Given the description of an element on the screen output the (x, y) to click on. 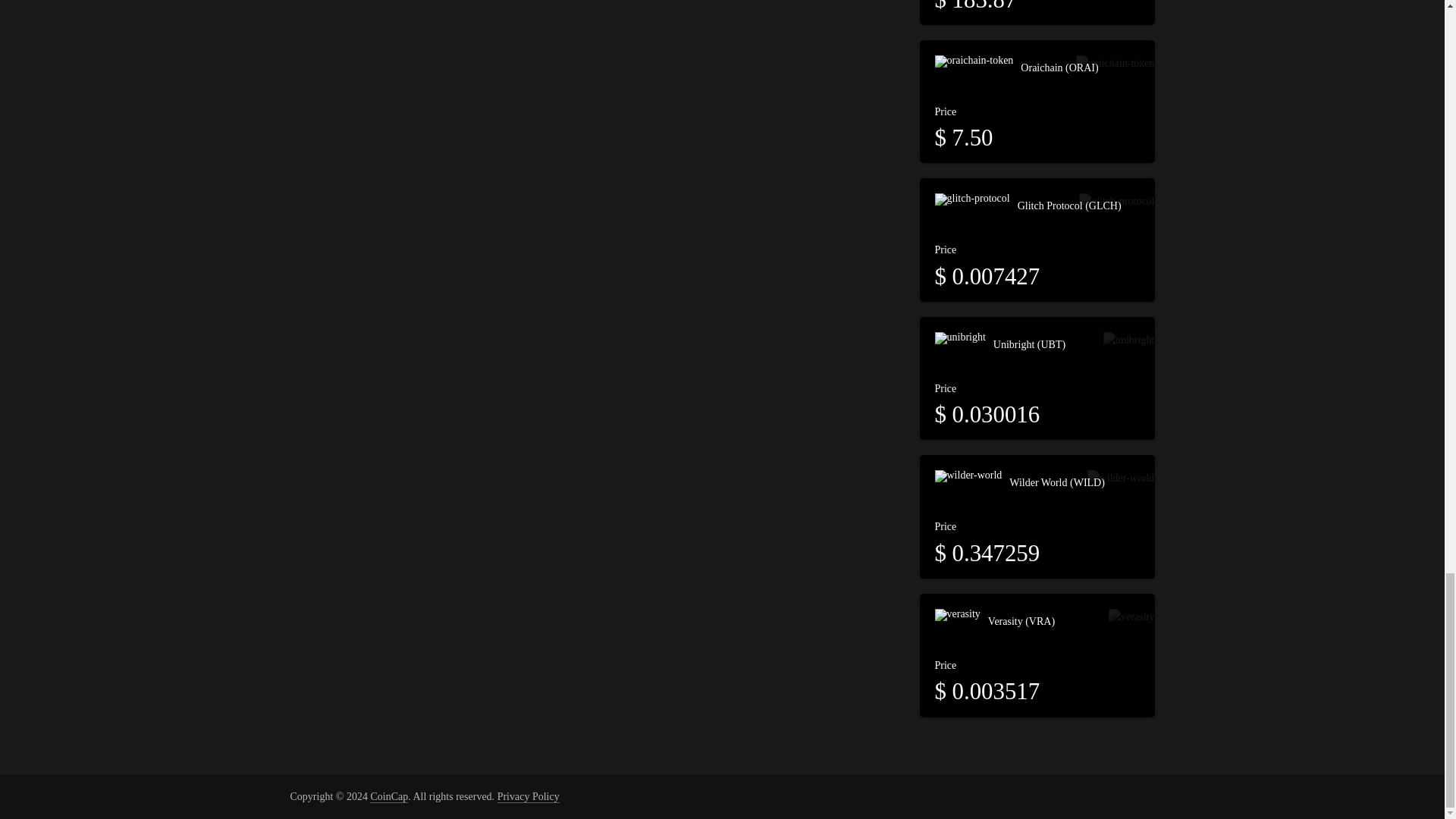
CoinCap (388, 797)
Privacy Policy (528, 797)
CoinCap (388, 797)
